Given the description of an element on the screen output the (x, y) to click on. 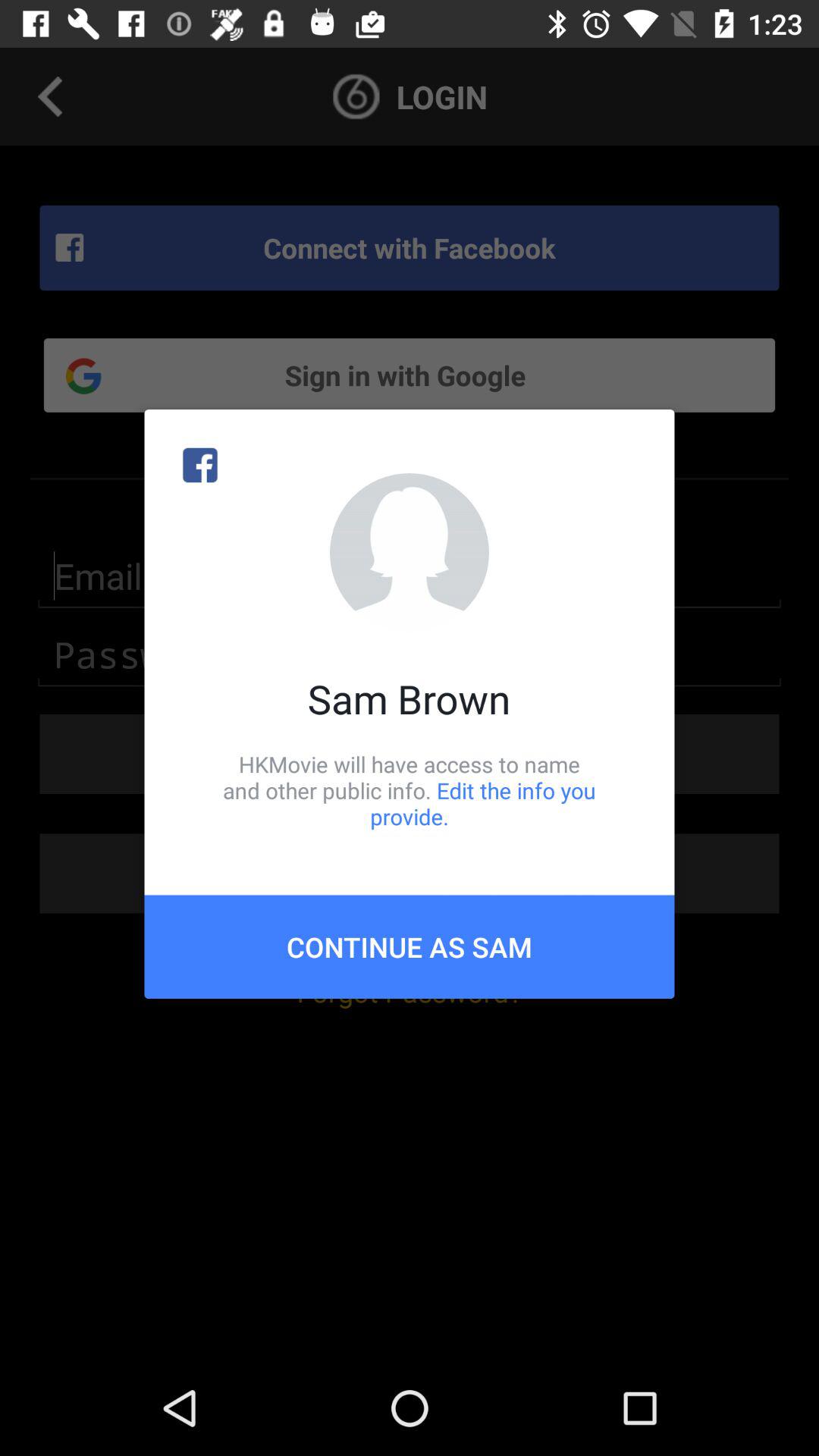
swipe until the continue as sam (409, 946)
